Given the description of an element on the screen output the (x, y) to click on. 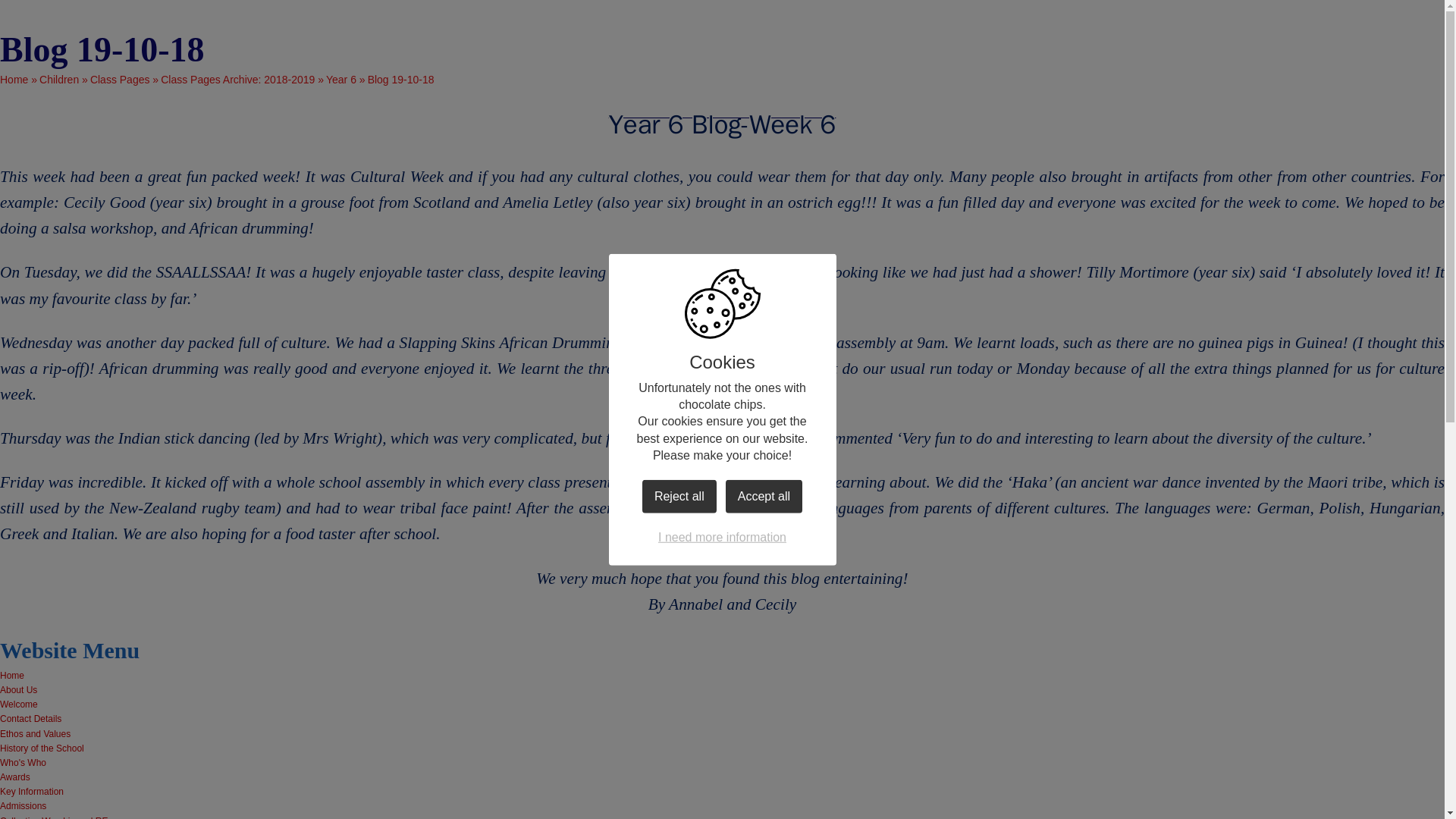
Home (12, 675)
Class Pages Archive: 2018-2019 (237, 79)
Who's Who (23, 762)
Key Information (32, 791)
Children (58, 79)
Admissions (23, 805)
Awards (15, 777)
About Us (18, 689)
Home (13, 79)
Class Pages (119, 79)
Collective Worship and RE (53, 817)
Contact Details (30, 718)
History of the School (42, 747)
Blog 19-10-18 (400, 79)
Ethos and Values (34, 733)
